Given the description of an element on the screen output the (x, y) to click on. 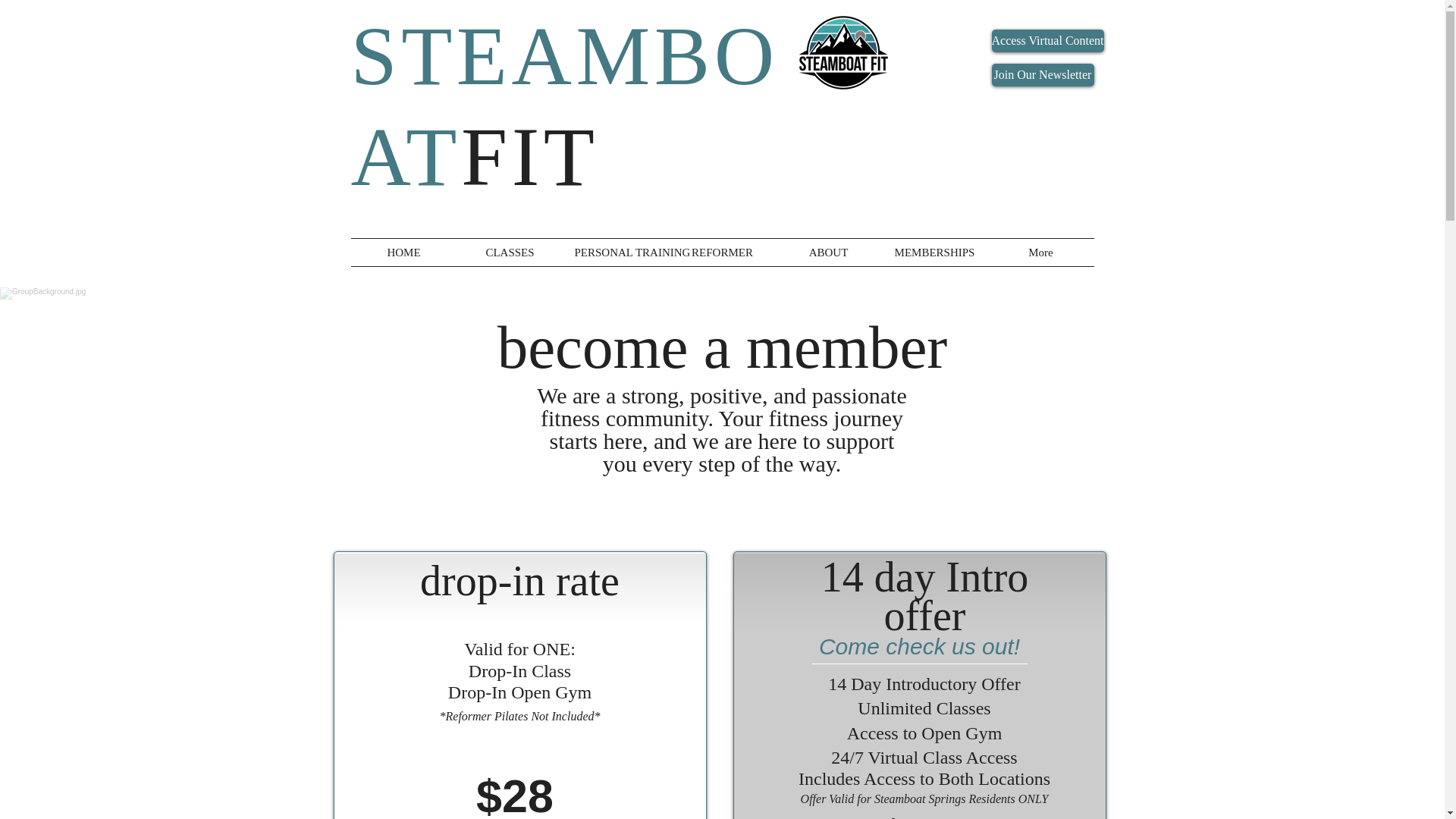
MEMBERSHIPS (933, 252)
REFORMER (721, 252)
ABOUT (827, 252)
HOME (403, 252)
STEAMBOATFIT (563, 106)
Access Virtual Content (1047, 40)
Join Our Newsletter (1042, 74)
PERSONAL TRAINING (615, 252)
CLASSES (509, 252)
